Given the description of an element on the screen output the (x, y) to click on. 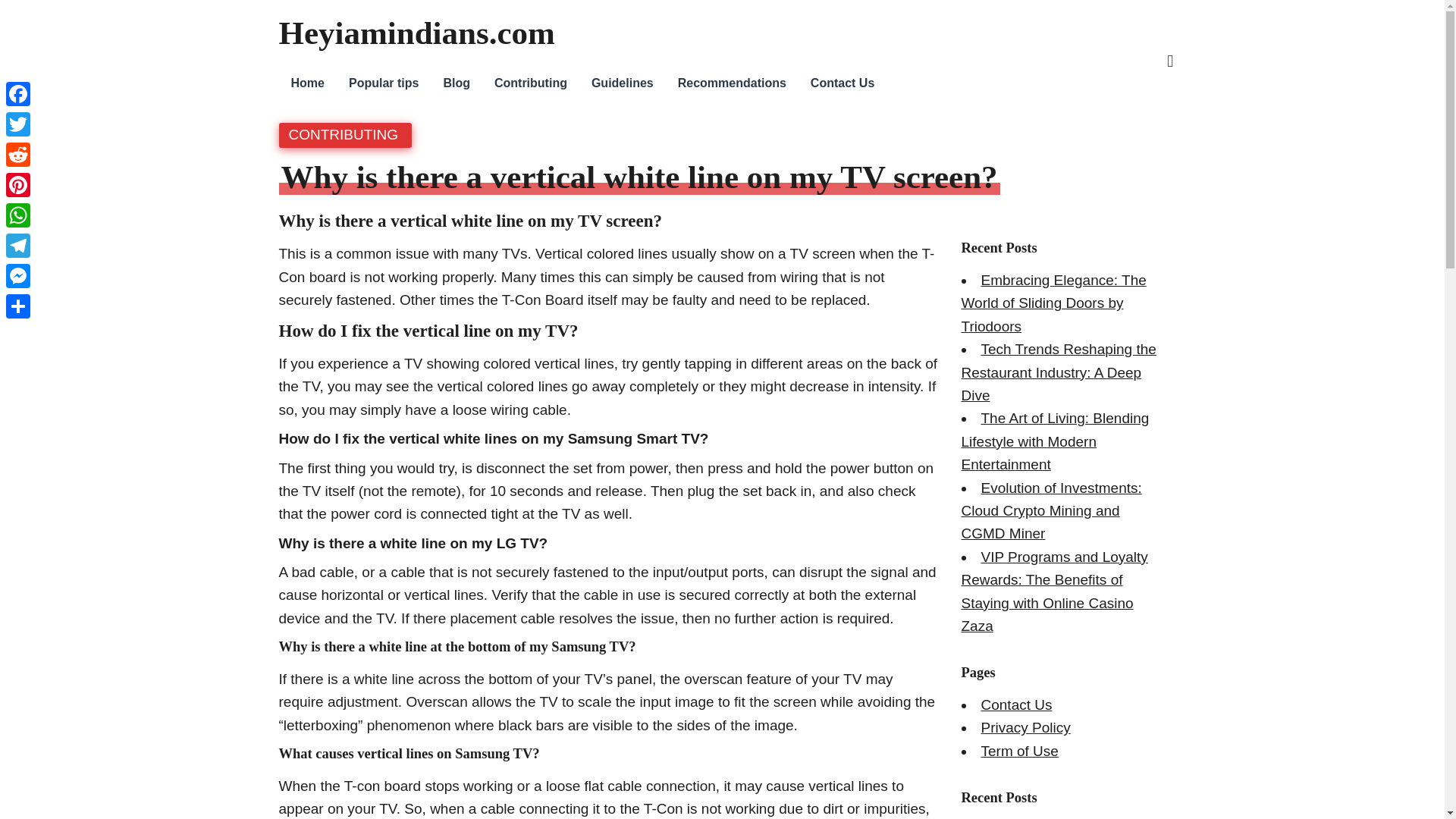
Embracing Elegance: The World of Sliding Doors by Triodoors (1053, 302)
Contributing (530, 83)
Facebook (17, 93)
Contact Us (841, 83)
Popular tips (383, 83)
Evolution of Investments: Cloud Crypto Mining and CGMD Miner (1050, 510)
CONTRIBUTING (342, 134)
Twitter (17, 123)
Guidelines (622, 83)
WhatsApp (17, 214)
Tech Trends Reshaping the Restaurant Industry: A Deep Dive (1058, 372)
Blog (455, 83)
Recommendations (731, 83)
Heyiamindians.com (416, 32)
Pinterest (17, 184)
